Given the description of an element on the screen output the (x, y) to click on. 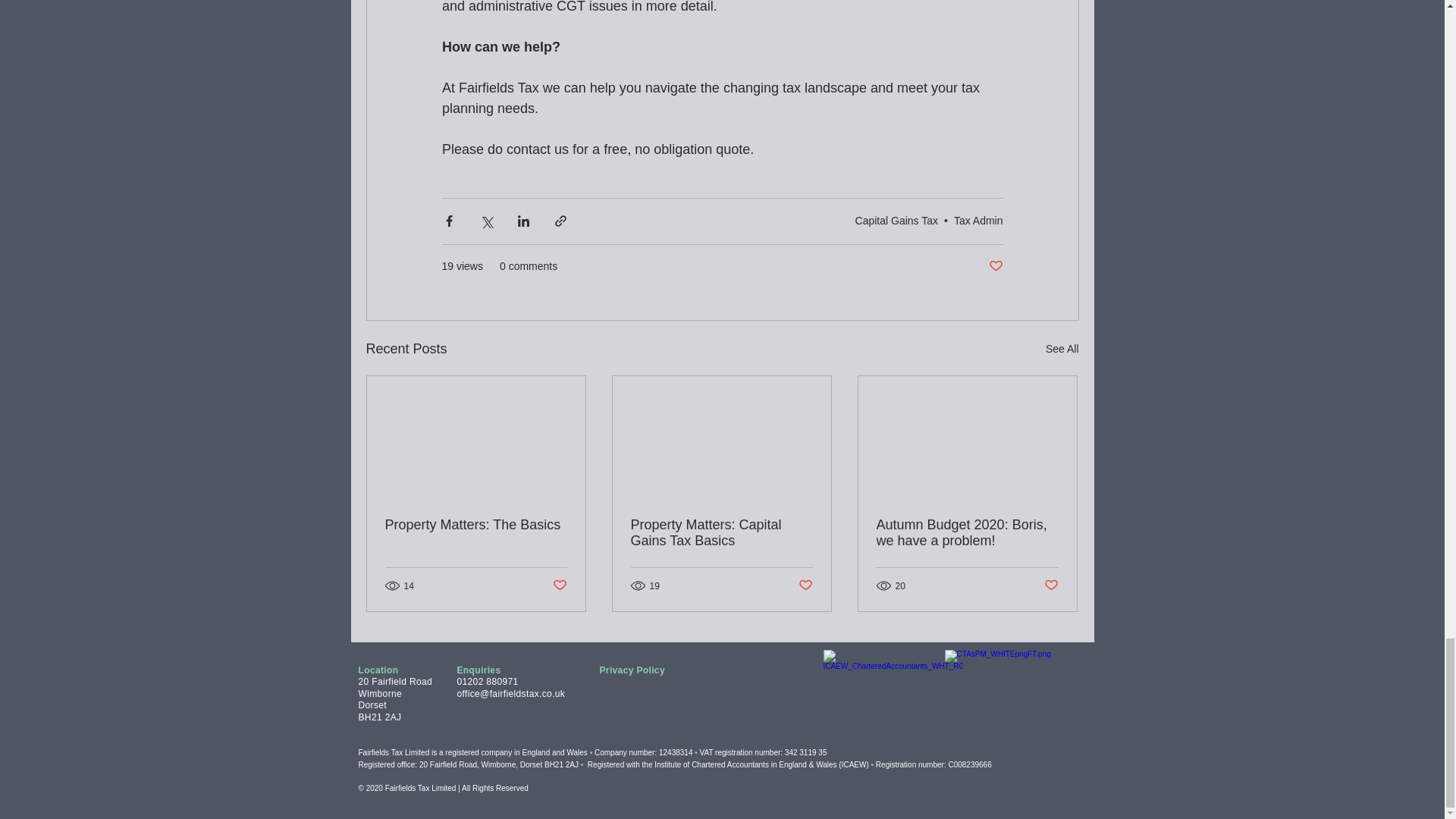
Post not marked as liked (995, 266)
Post not marked as liked (558, 585)
Post not marked as liked (804, 585)
Post not marked as liked (1050, 585)
Property Matters: Capital Gains Tax Basics (721, 531)
Privacy Policy (630, 670)
See All (1061, 348)
Tax Admin (978, 220)
01202 880971 (487, 681)
Autumn Budget 2020: Boris, we have a problem! (967, 531)
